Given the description of an element on the screen output the (x, y) to click on. 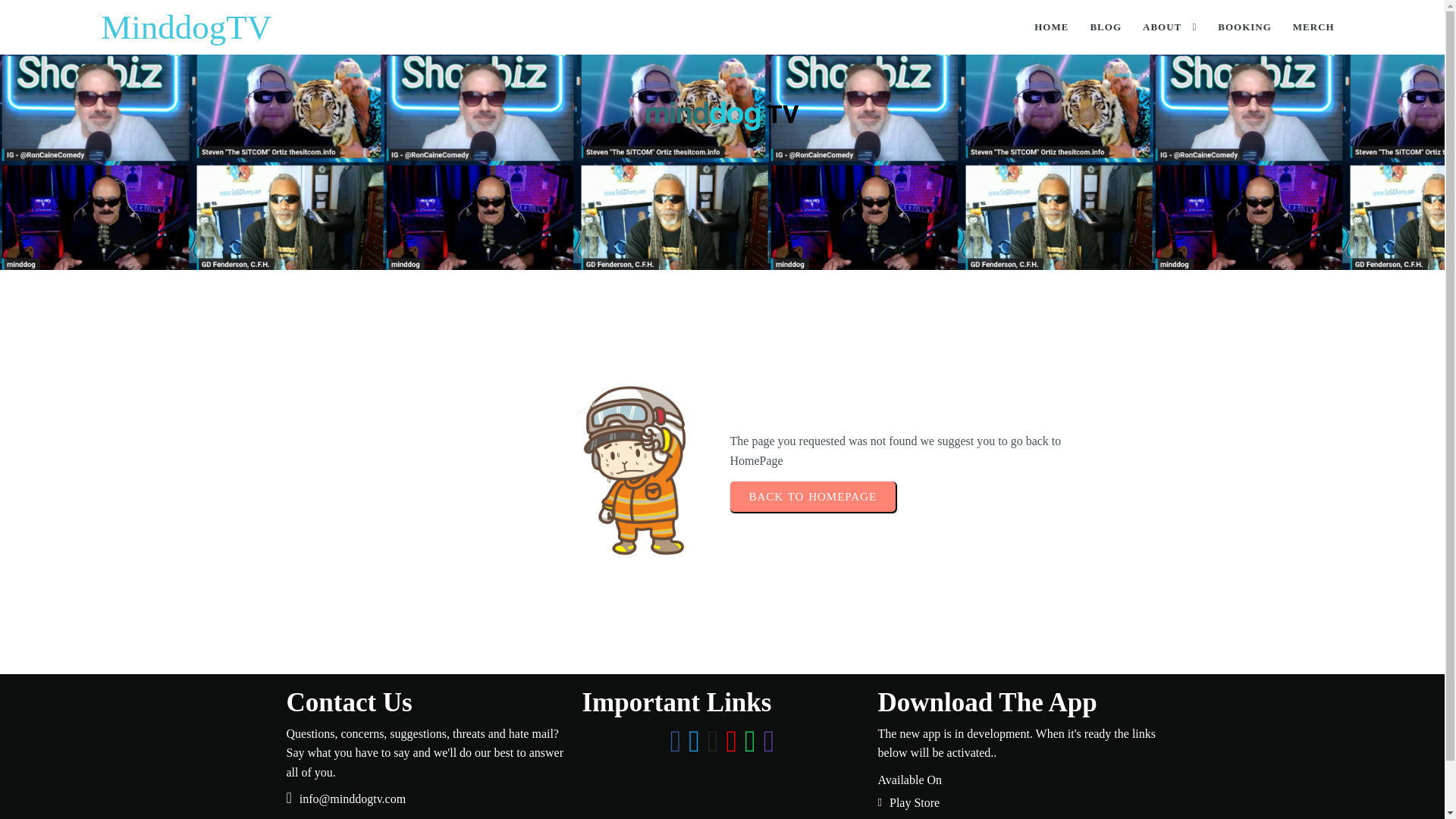
logo - for white background (721, 115)
BACK TO HOMEPAGE (812, 496)
BLOG (1105, 27)
HOME (1051, 27)
MinddogTV (411, 27)
ABOUT (1169, 27)
BOOKING (1244, 27)
MERCH (1313, 27)
